Given the description of an element on the screen output the (x, y) to click on. 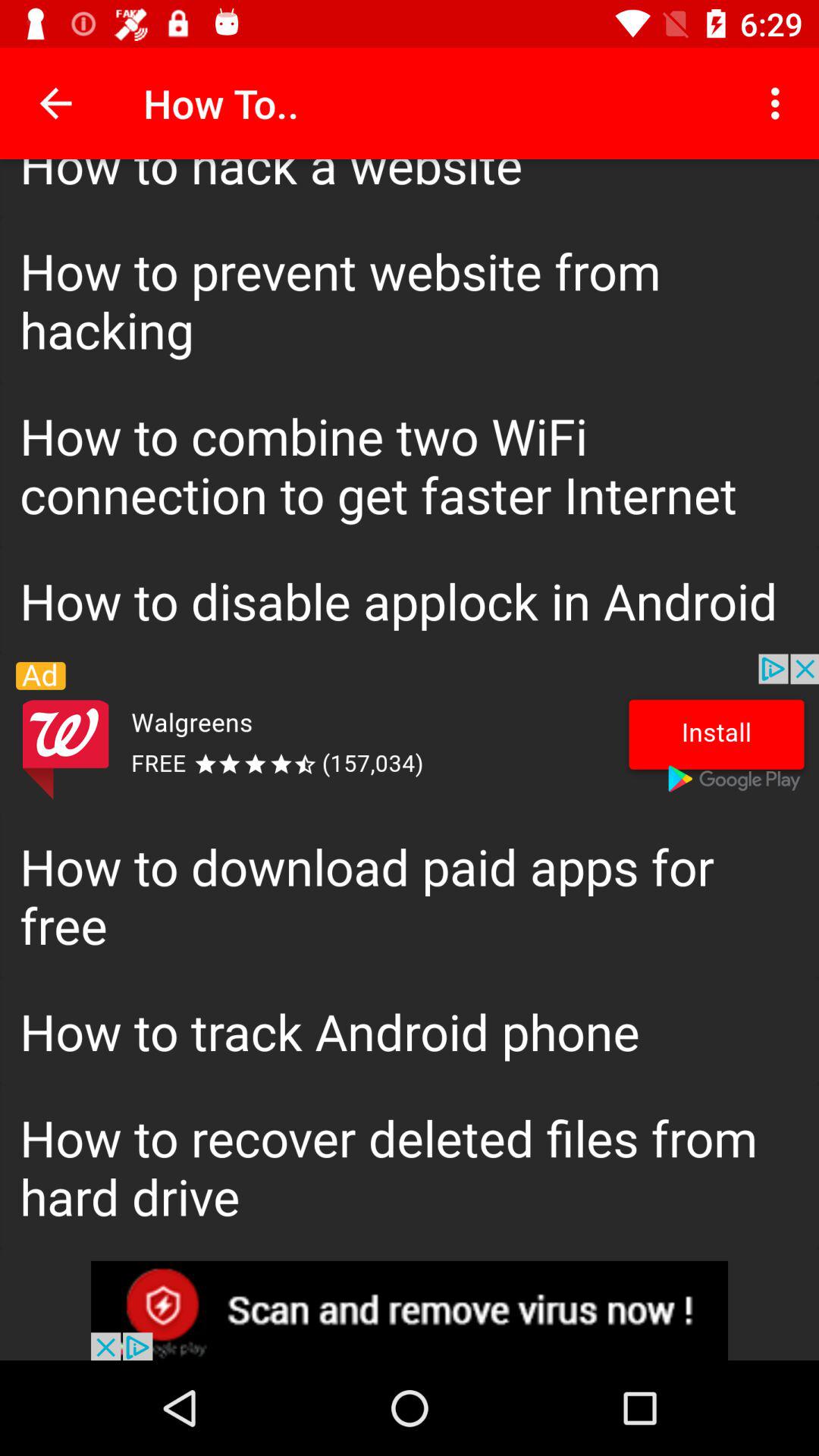
shows walgreens app option (409, 733)
